Given the description of an element on the screen output the (x, y) to click on. 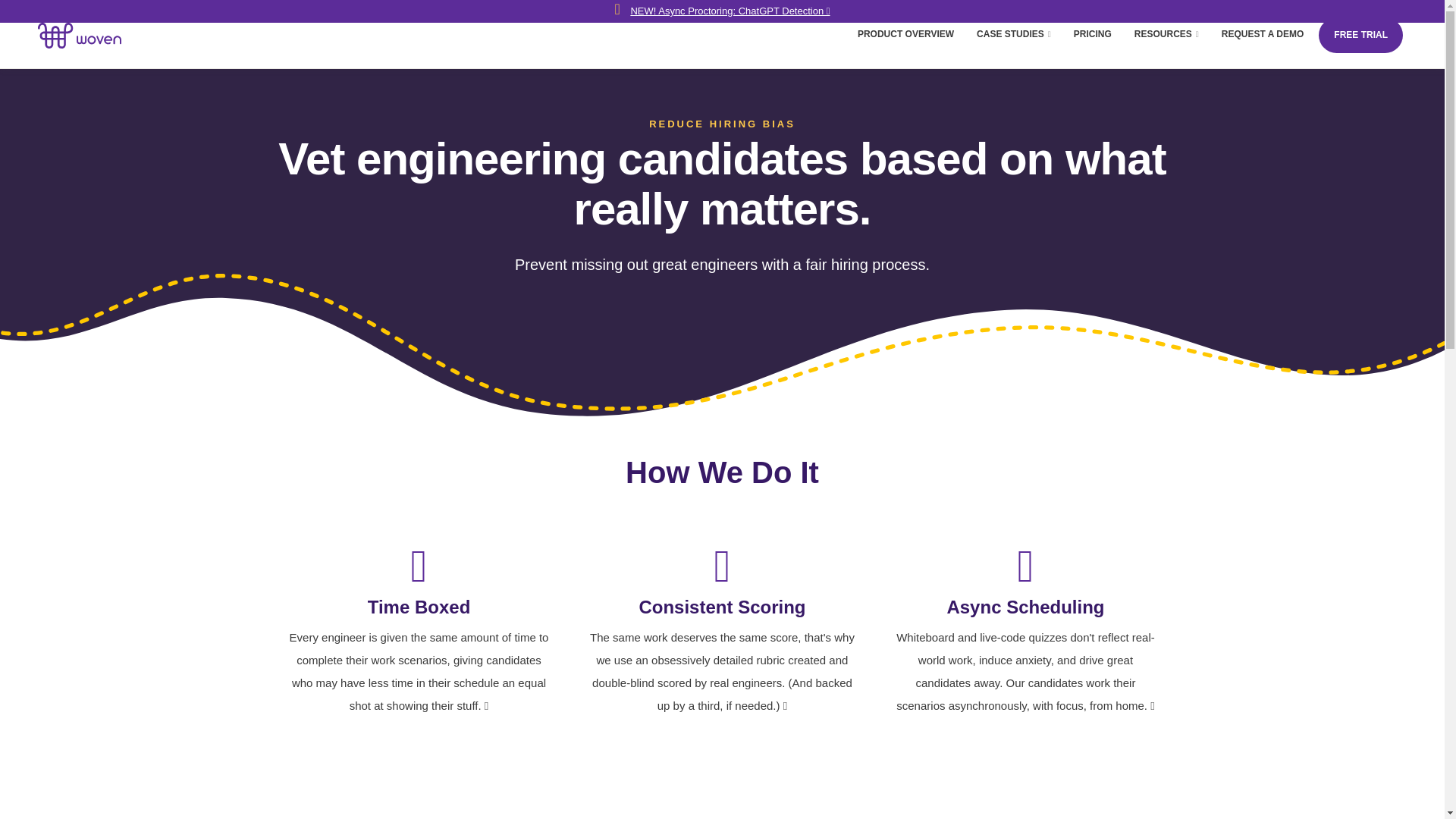
FREE TRIAL (1361, 35)
RESOURCES (1166, 33)
PRODUCT OVERVIEW (905, 33)
PRICING (1092, 33)
CASE STUDIES (1013, 33)
REQUEST A DEMO (1262, 33)
